Given the description of an element on the screen output the (x, y) to click on. 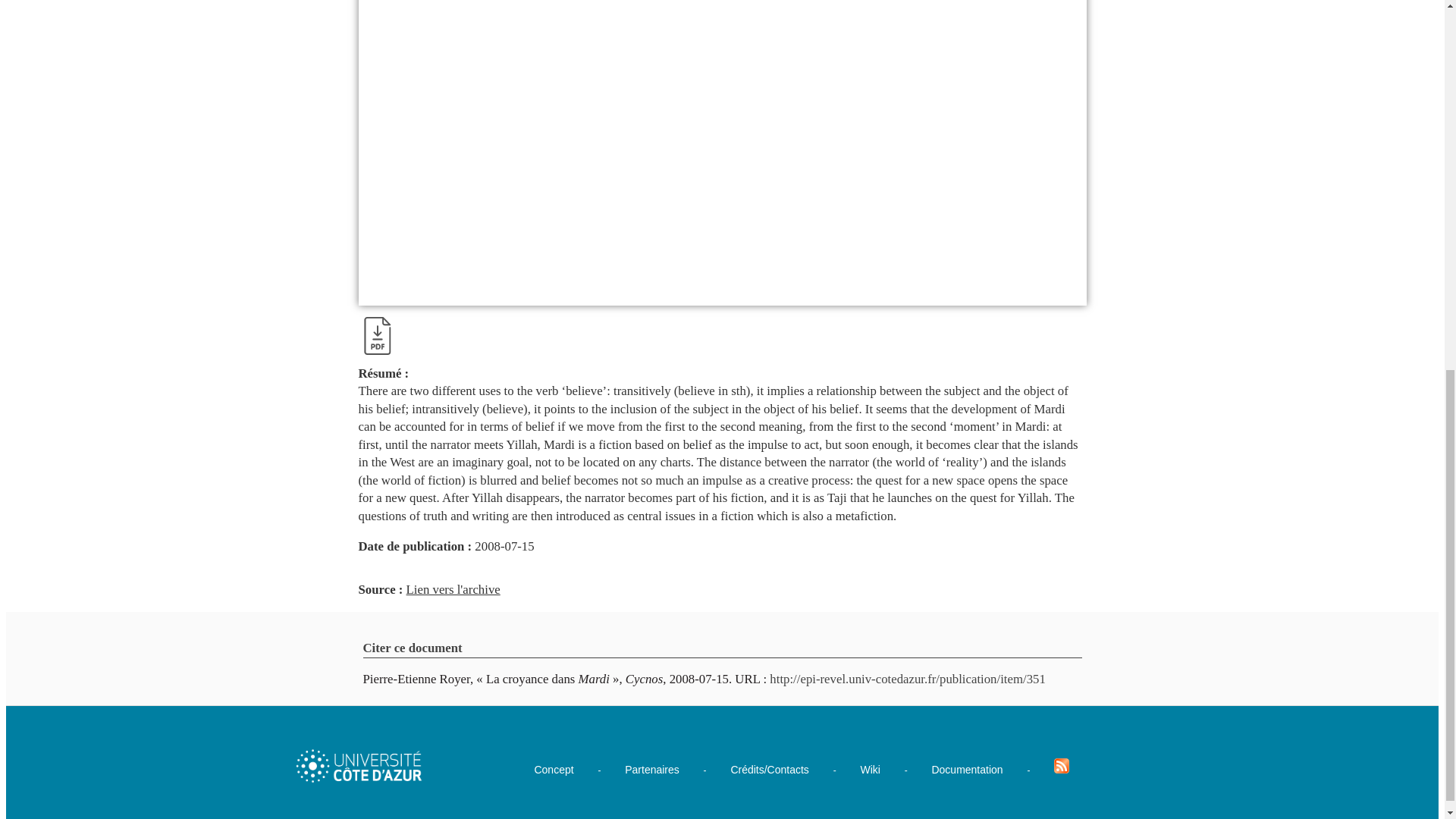
Wiki (869, 769)
Lien PDF (377, 335)
Flux RSS EPI-REVEL HAL (1061, 765)
Lien vers l'archive (453, 589)
Partenaires (651, 769)
Concept (553, 769)
Documentation (967, 769)
